Given the description of an element on the screen output the (x, y) to click on. 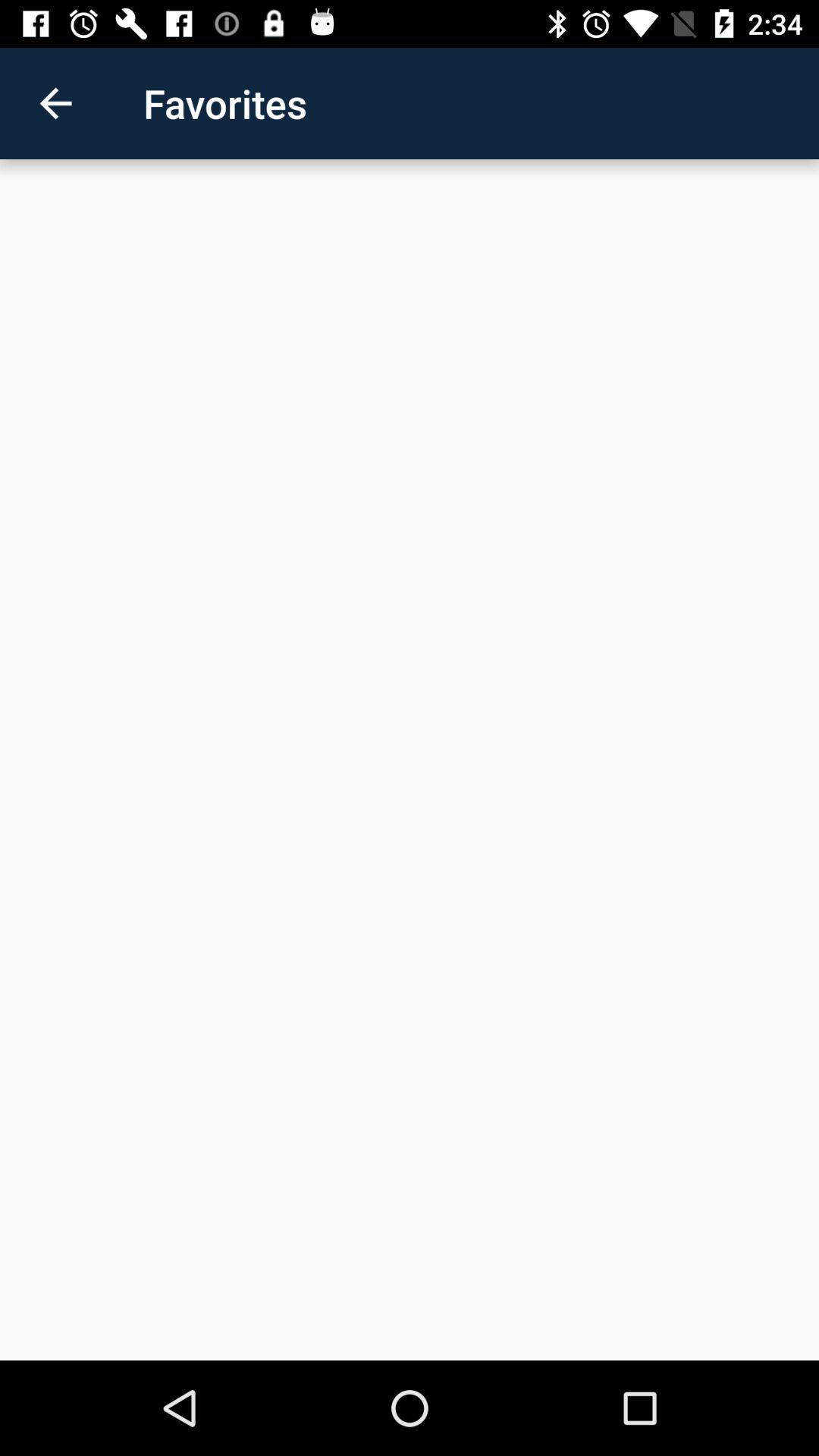
select item next to the favorites app (55, 103)
